Given the description of an element on the screen output the (x, y) to click on. 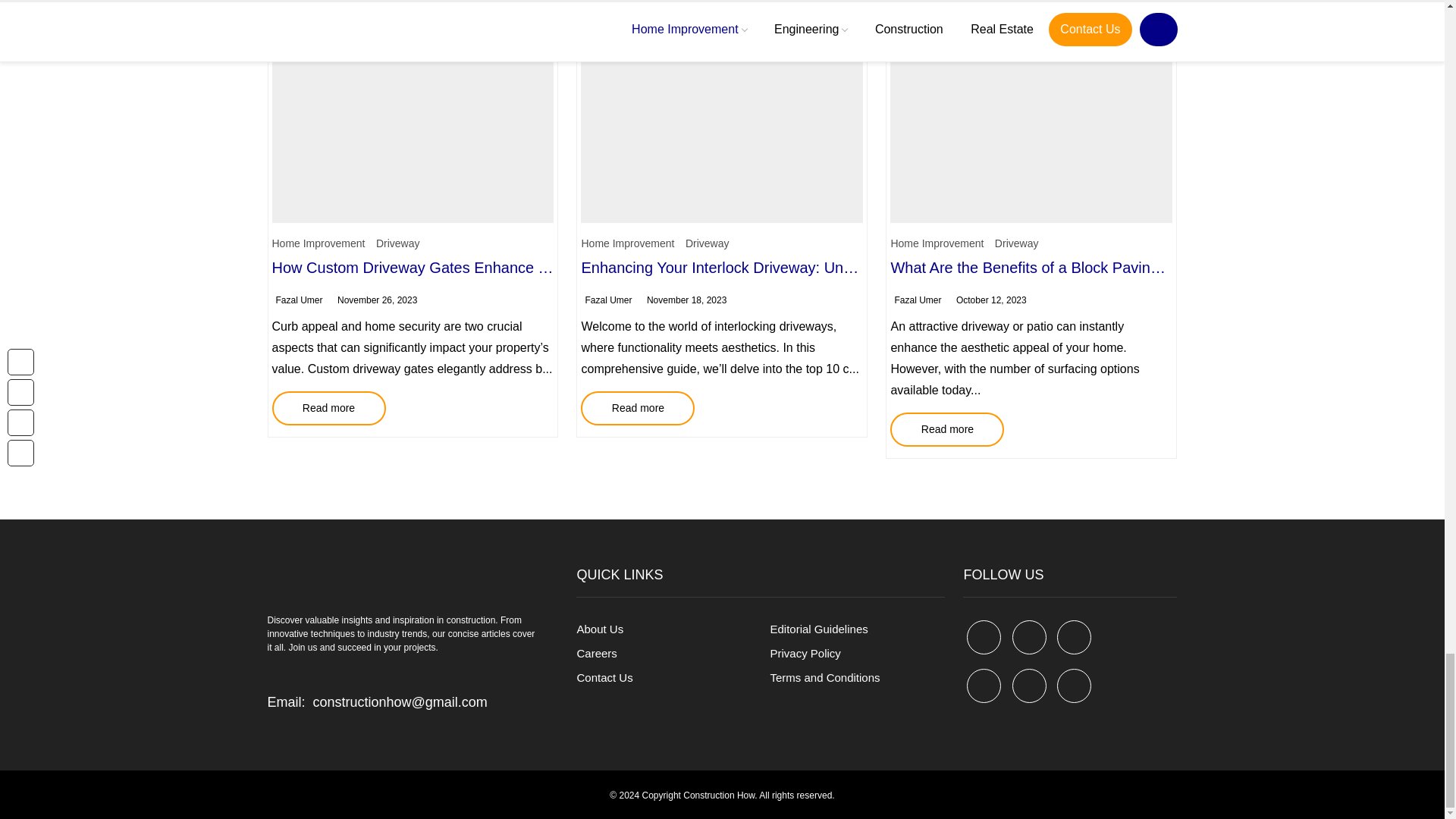
youtube (983, 685)
twitter (1028, 636)
facebook (983, 636)
tiktok (1028, 685)
pinterest (1073, 636)
instagram (1073, 685)
